Given the description of an element on the screen output the (x, y) to click on. 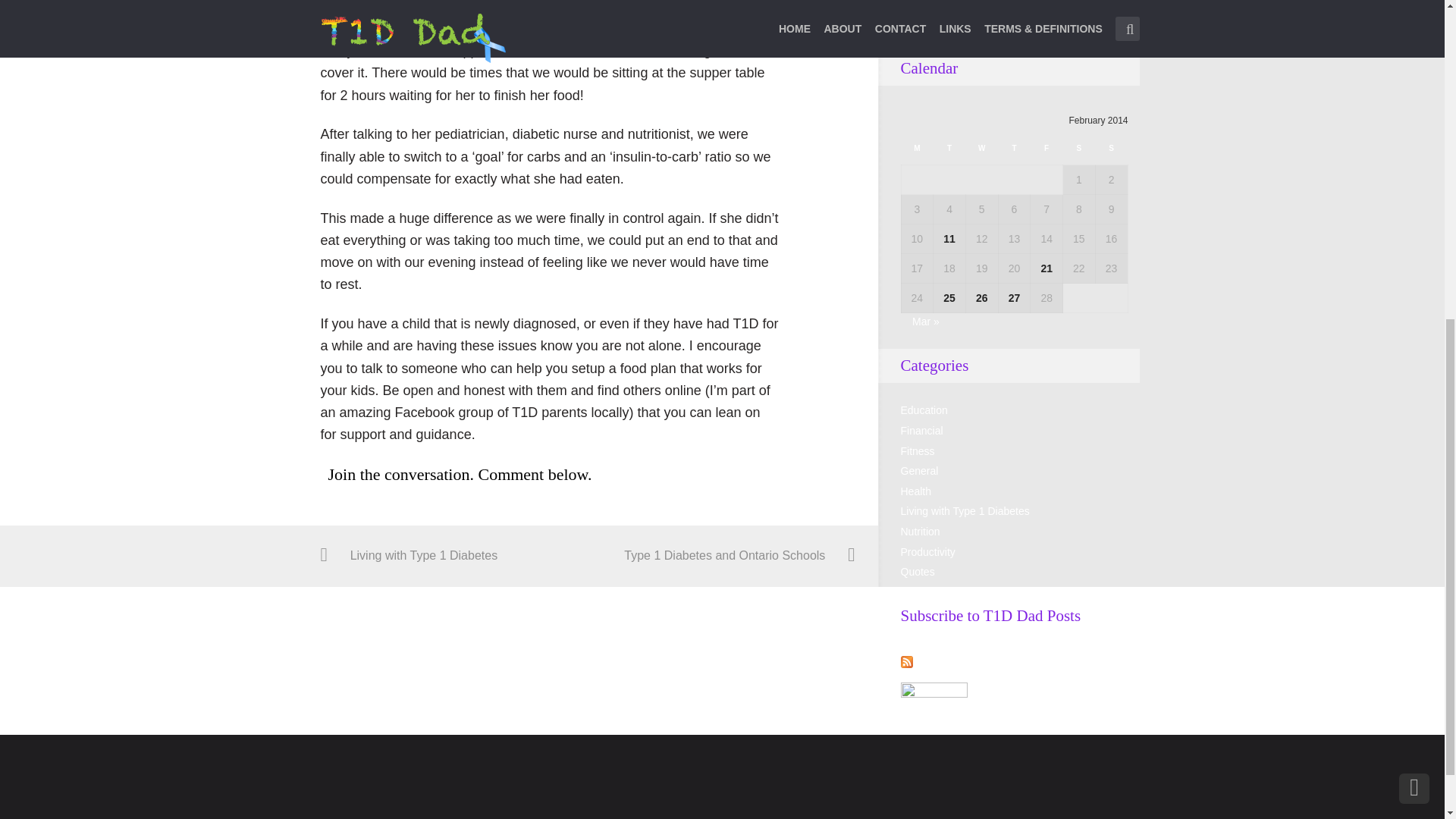
Friday (1046, 152)
Living with Type 1 Diabetes (454, 556)
25 (949, 297)
Type 1 Diabetes and Ontario Schools (722, 556)
Tuesday (949, 152)
Monday (917, 152)
Wednesday (981, 152)
11 (949, 238)
Thursday (1013, 152)
21 (1046, 268)
